Given the description of an element on the screen output the (x, y) to click on. 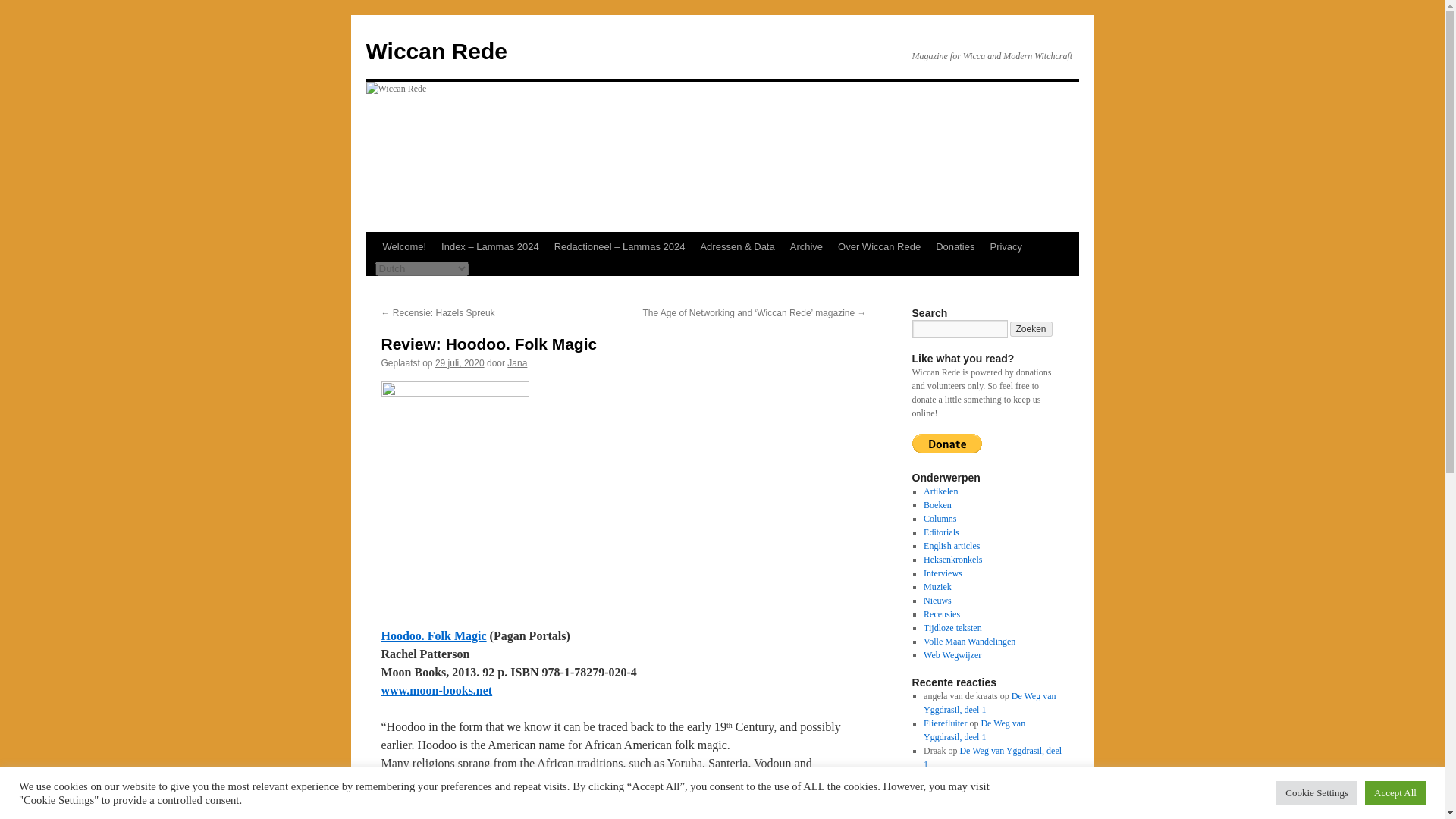
16:00 (459, 362)
Welcome! (403, 246)
Archive (806, 246)
Alle berichten tonen van Jana (516, 362)
Wiccan Rede (435, 50)
Zoeken (1031, 328)
